Given the description of an element on the screen output the (x, y) to click on. 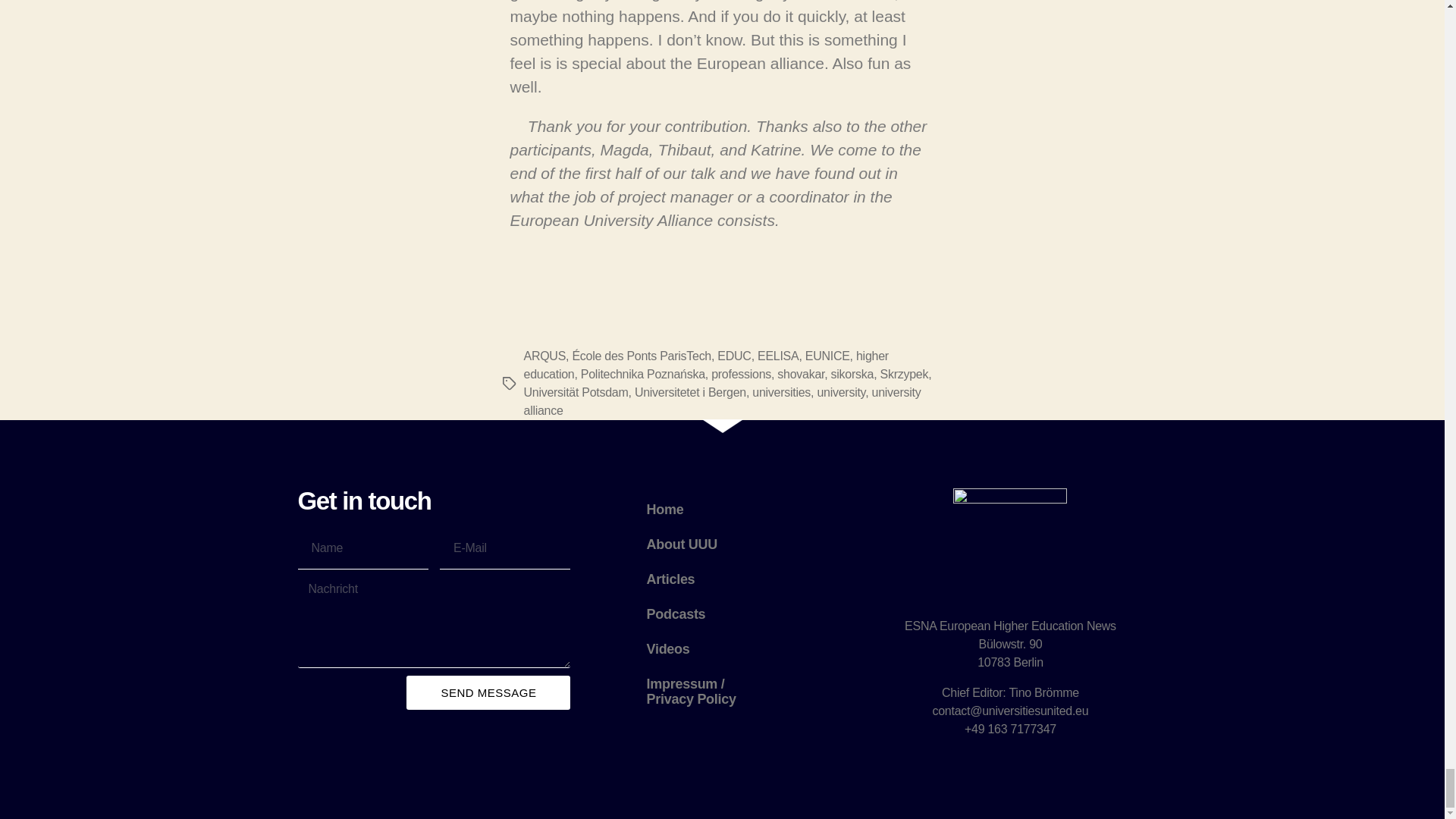
EUNICE (827, 355)
Skrzypek (903, 373)
ARQUS (544, 355)
Universitetet i Bergen (689, 391)
EDUC (734, 355)
shovakar (800, 373)
university alliance (721, 400)
sikorska (853, 373)
university (840, 391)
professions (741, 373)
